Given the description of an element on the screen output the (x, y) to click on. 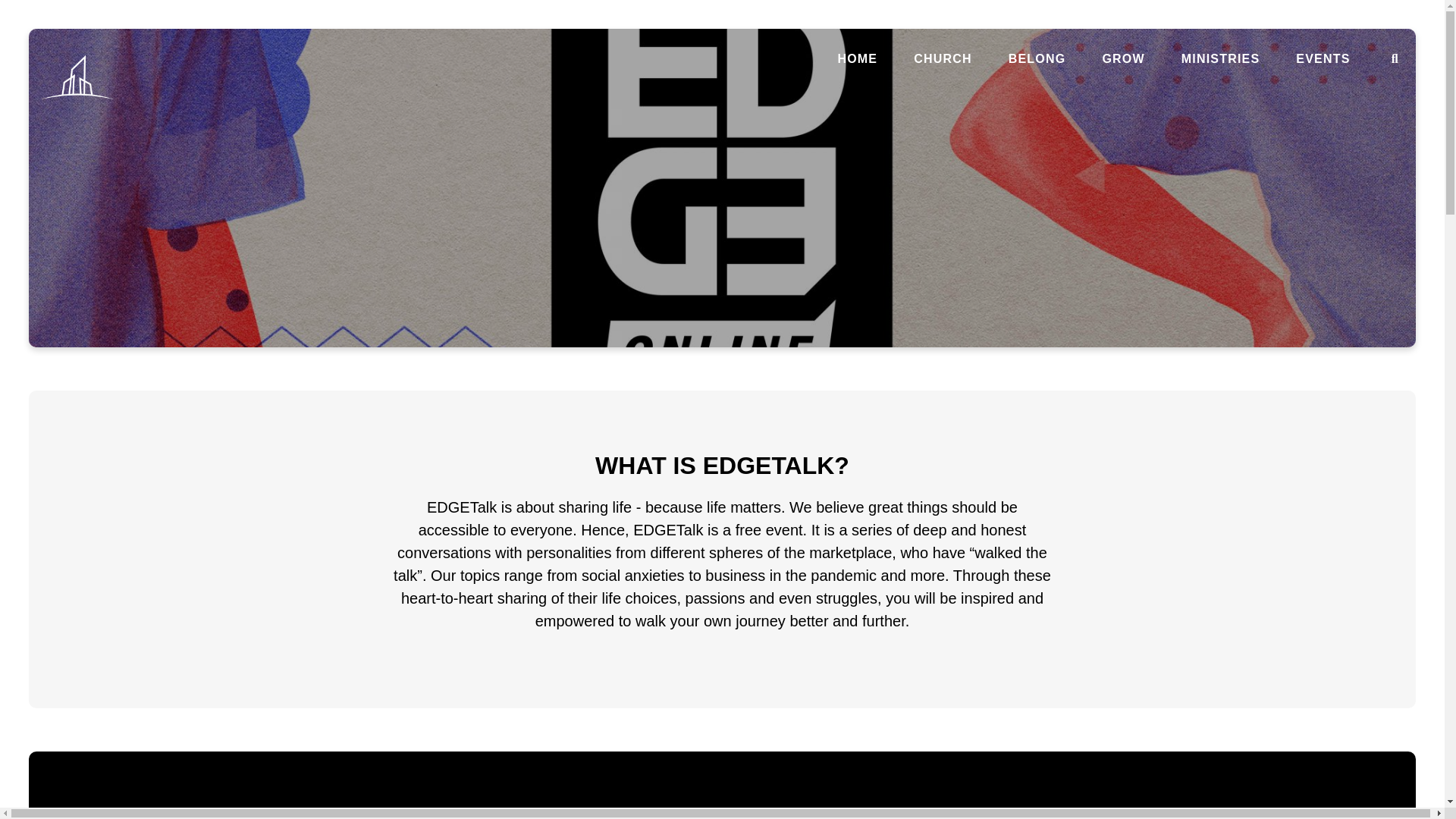
MINISTRIES (1220, 59)
HOME (857, 59)
CHURCH (943, 59)
BELONG (1037, 59)
GROW (1123, 59)
EVENTS (1322, 59)
